Given the description of an element on the screen output the (x, y) to click on. 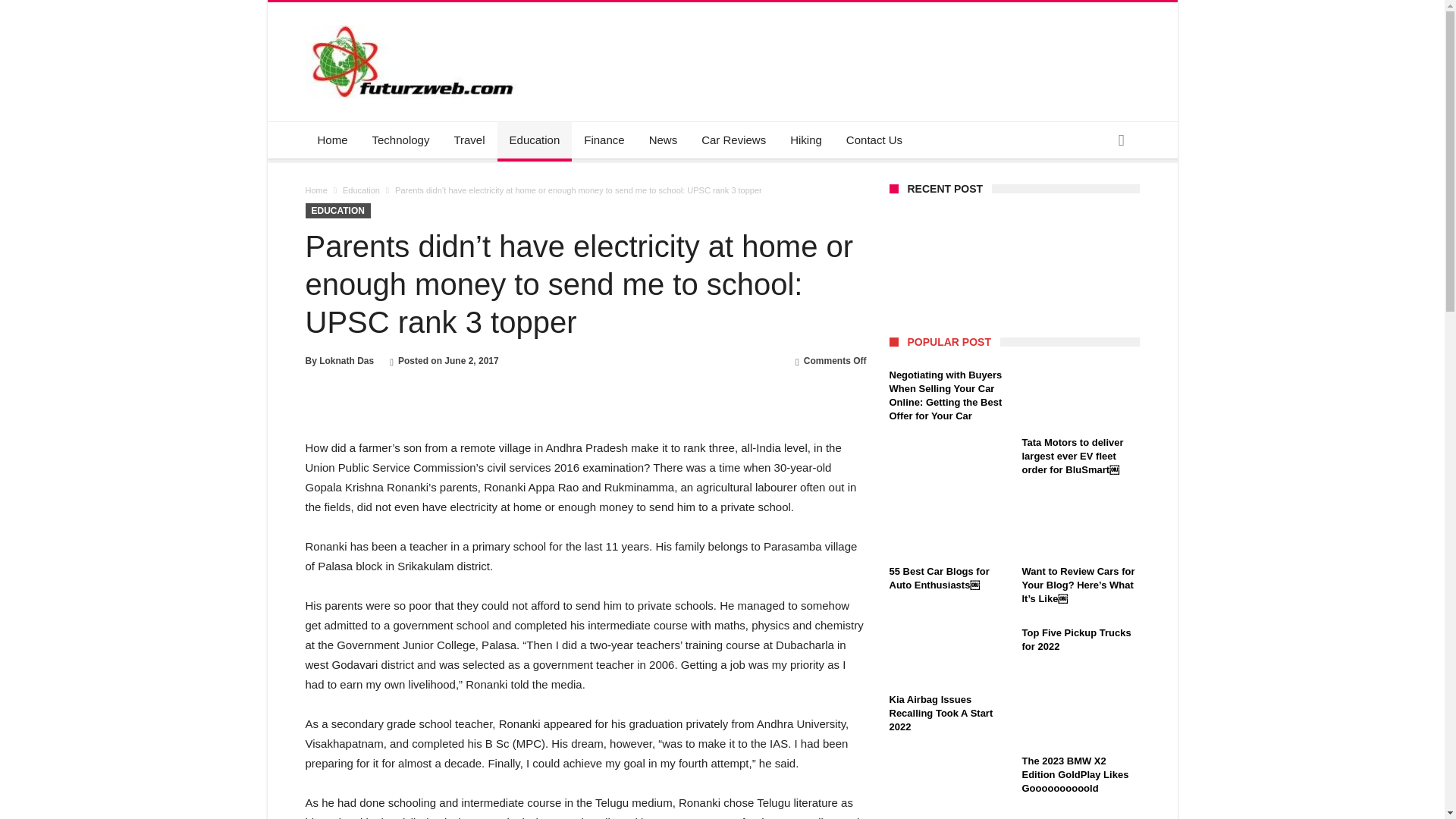
Loknath Das (346, 360)
Futurzweb (414, 24)
Home (315, 189)
Travel (468, 140)
Education (361, 189)
Home (331, 140)
Hiking (805, 140)
Technology (400, 140)
EDUCATION (336, 210)
Finance (604, 140)
News (663, 140)
Contact Us (874, 140)
Car Reviews (732, 140)
Education (534, 140)
